Given the description of an element on the screen output the (x, y) to click on. 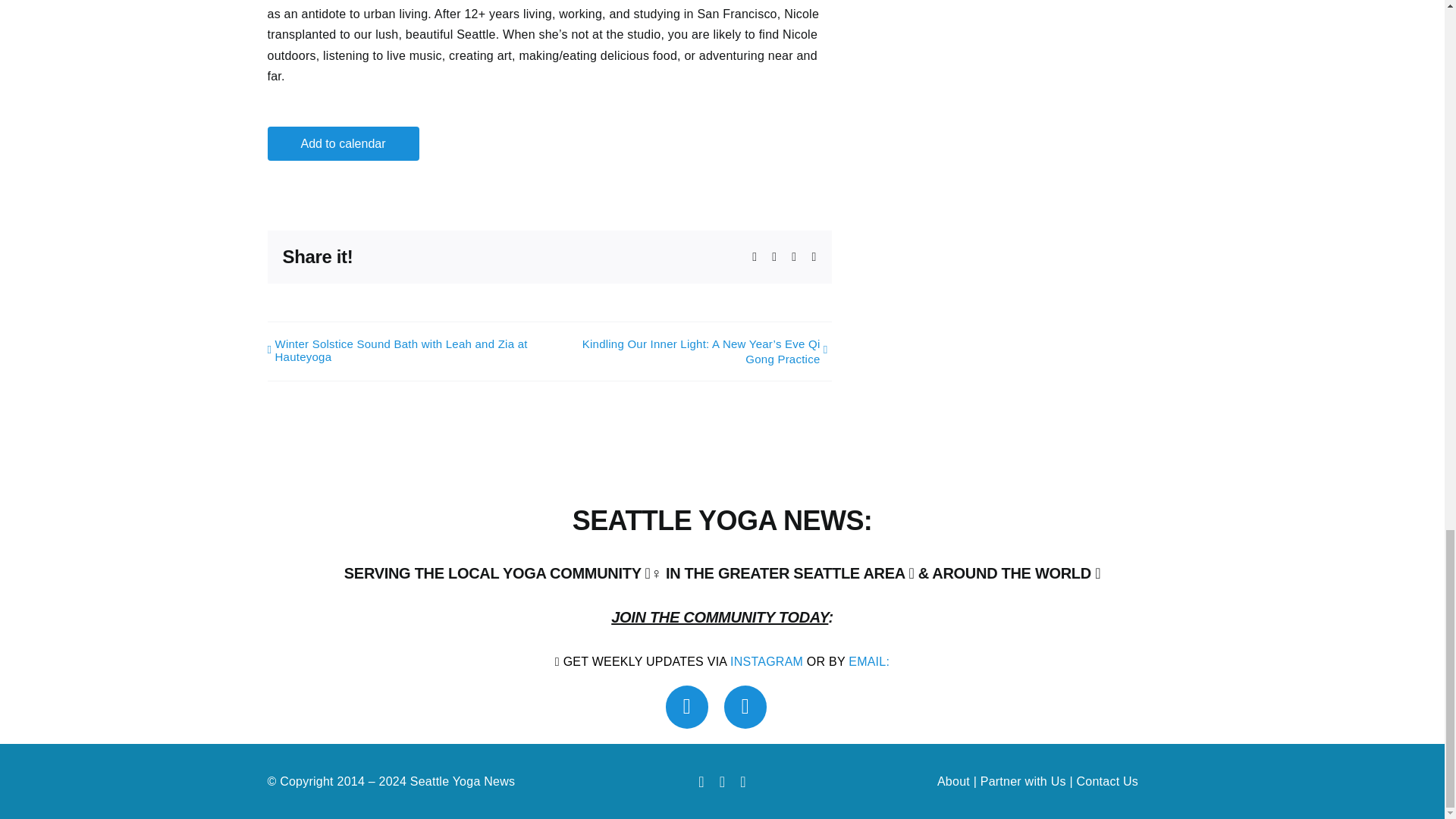
EMAIL: (868, 661)
Add to calendar (342, 143)
Winter Solstice Sound Bath with Leah and Zia at Hauteyoga (406, 351)
INSTAGRAM (766, 661)
About (953, 780)
Partner with Us (1022, 780)
